Given the description of an element on the screen output the (x, y) to click on. 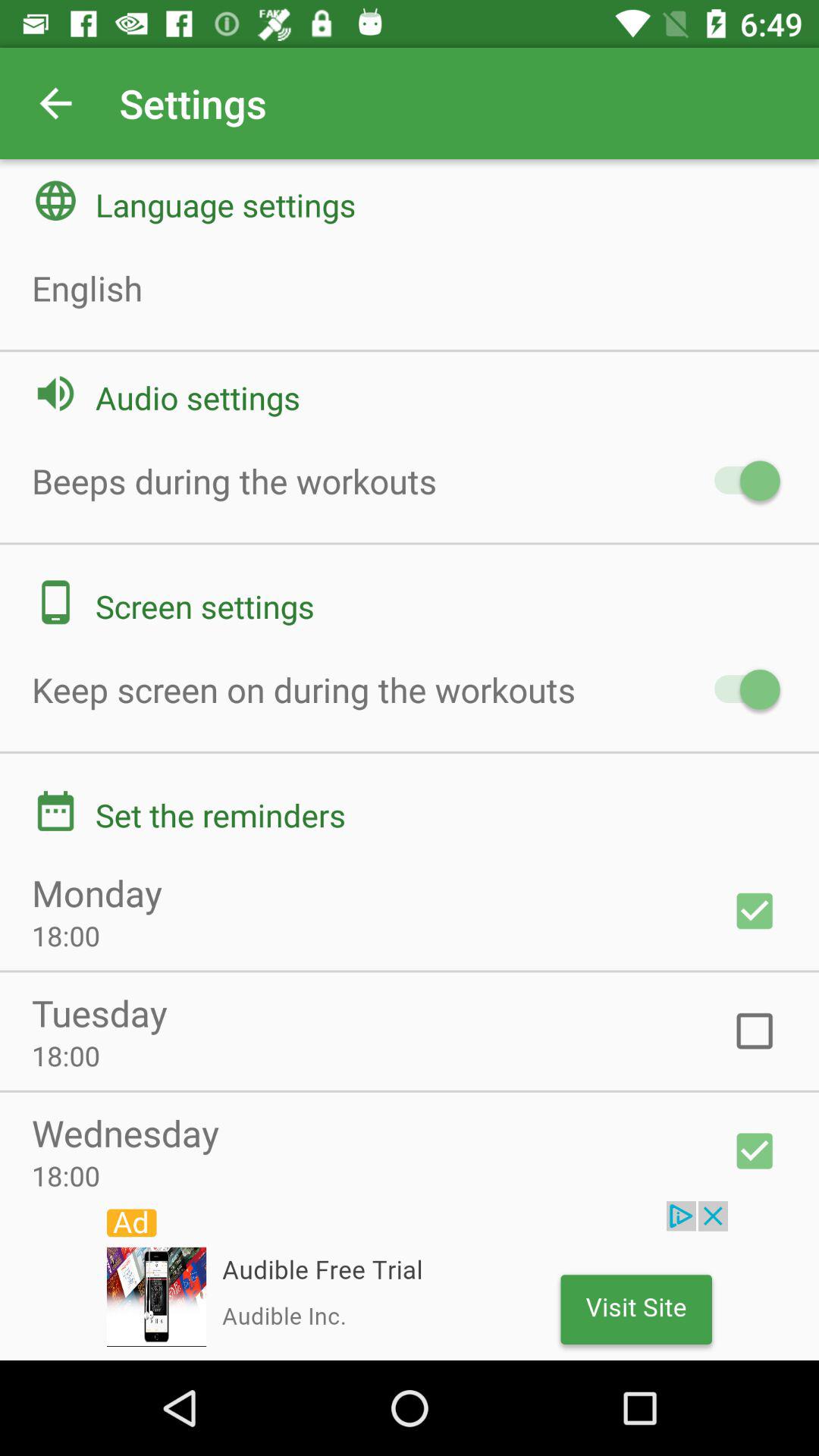
select the tick symbol (754, 1151)
